Given the description of an element on the screen output the (x, y) to click on. 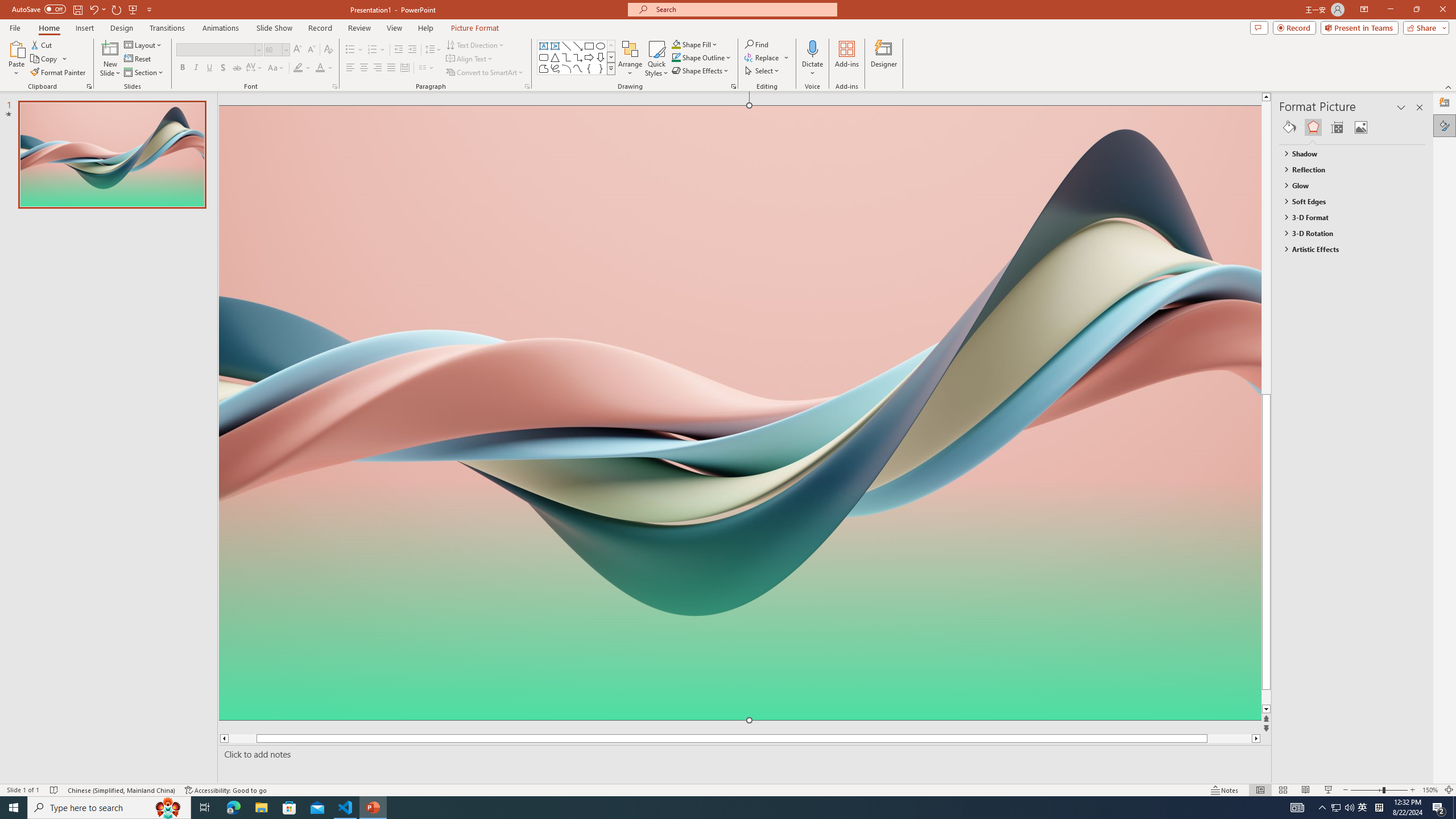
Slide Show (1328, 790)
Center (363, 67)
Reflection (1347, 169)
Distributed (404, 67)
Microsoft search (742, 9)
Underline (209, 67)
Glow (1347, 185)
From Beginning (133, 9)
Bold (182, 67)
Strikethrough (237, 67)
Decrease Indent (398, 49)
Arrow: Down (600, 57)
Ribbon Display Options (1364, 9)
Accessibility Checker Accessibility: Good to go (226, 790)
Section (144, 72)
